Given the description of an element on the screen output the (x, y) to click on. 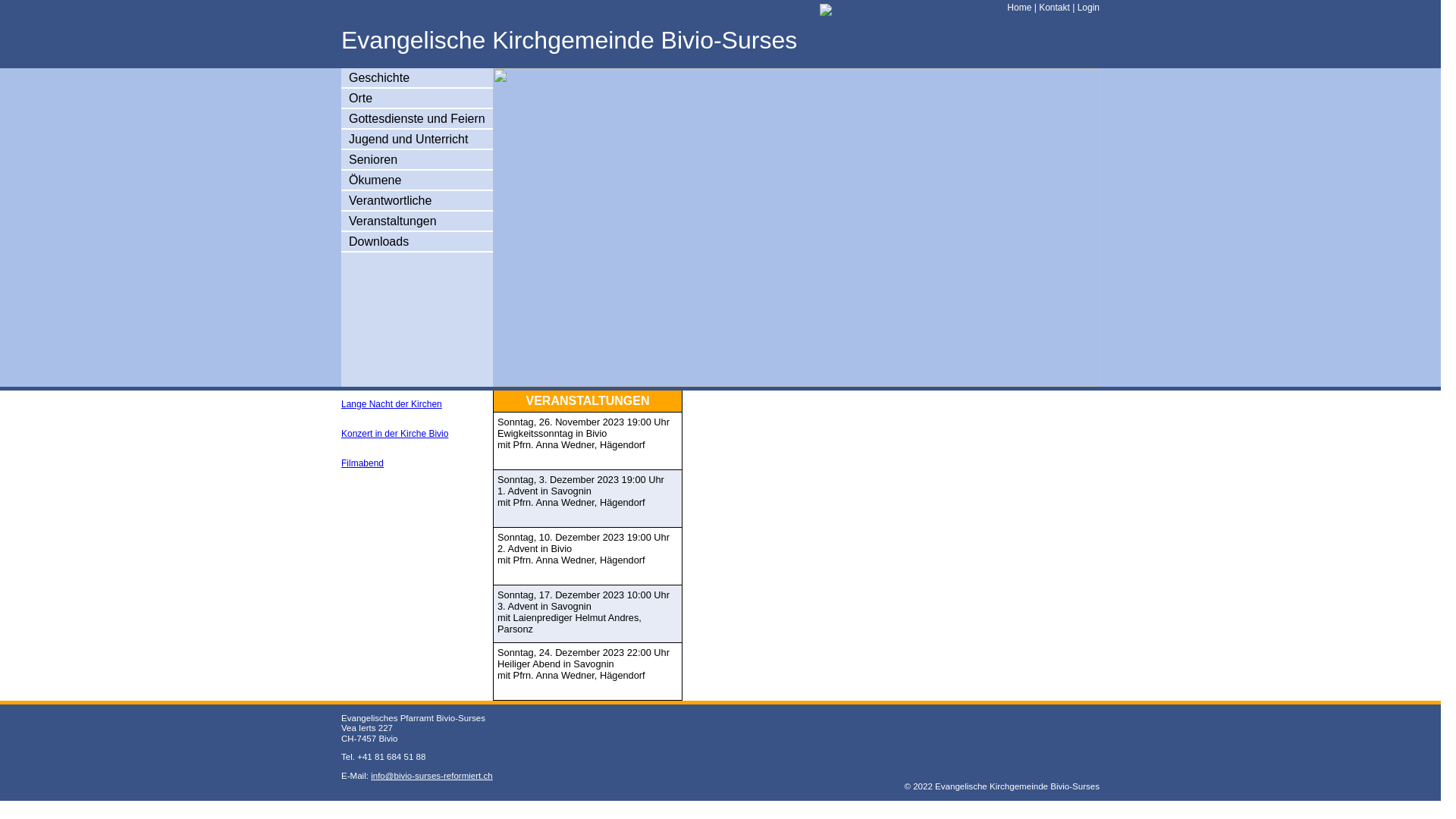
Downloads Element type: text (378, 241)
Veranstaltungen Element type: text (392, 220)
Jugend und Unterricht Element type: text (407, 138)
Gottesdienste und Feiern Element type: text (416, 118)
Konzert in der Kirche Bivio Element type: text (394, 433)
Lange Nacht der Kirchen Element type: text (391, 403)
Orte Element type: text (360, 97)
Evangelische Kirchgemeinde Bivio-Surses Element type: text (569, 39)
Senioren Element type: text (372, 159)
| Element type: text (1034, 7)
Verantwortliche Element type: text (389, 200)
Home Element type: text (1019, 7)
Filmabend Element type: text (362, 463)
info@bivio-surses-reformiert.ch Element type: text (431, 775)
Geschichte Element type: text (378, 77)
| Element type: text (1073, 7)
